Given the description of an element on the screen output the (x, y) to click on. 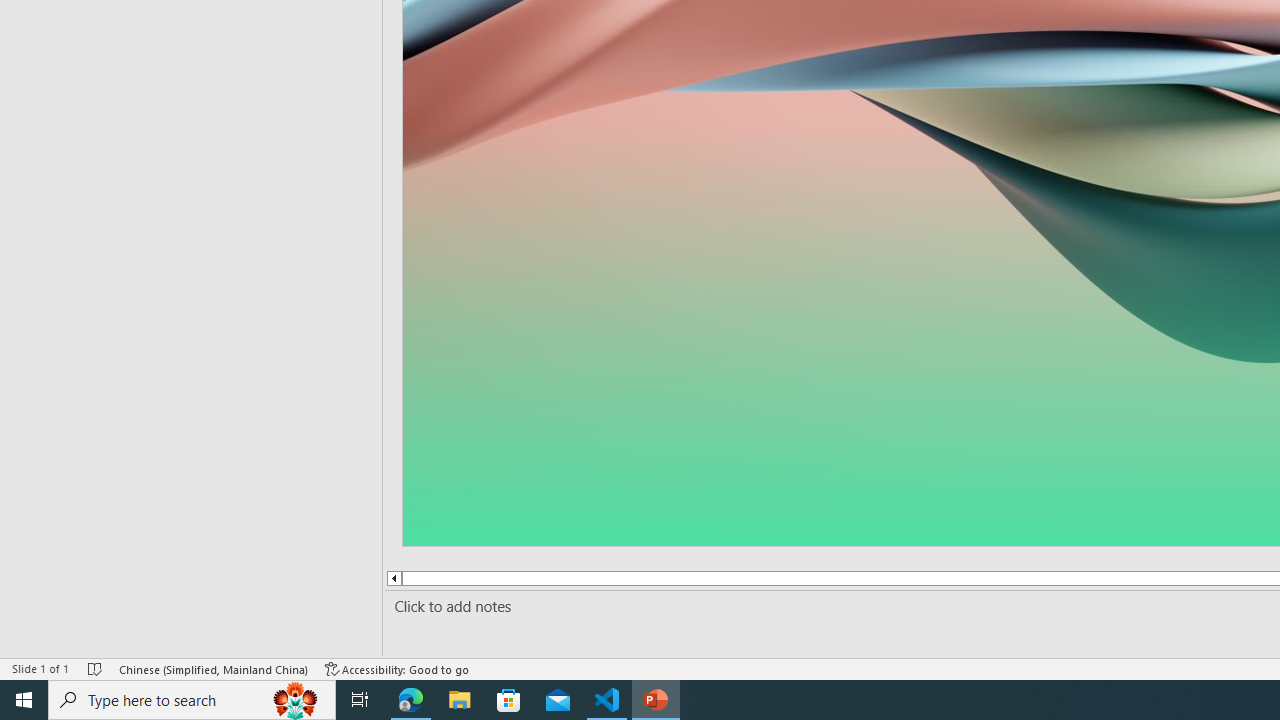
Accessibility Checker Accessibility: Good to go (397, 668)
